Given the description of an element on the screen output the (x, y) to click on. 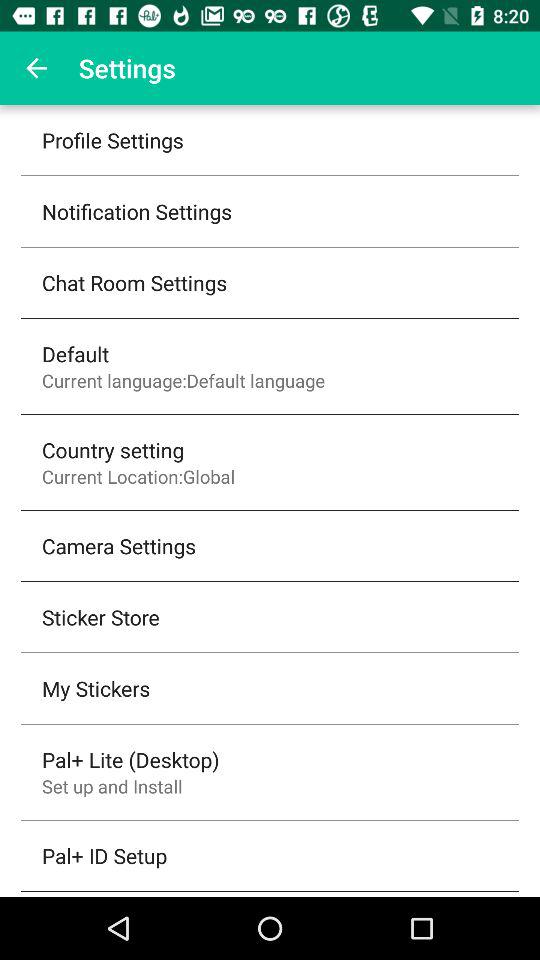
swipe to profile settings item (112, 139)
